Given the description of an element on the screen output the (x, y) to click on. 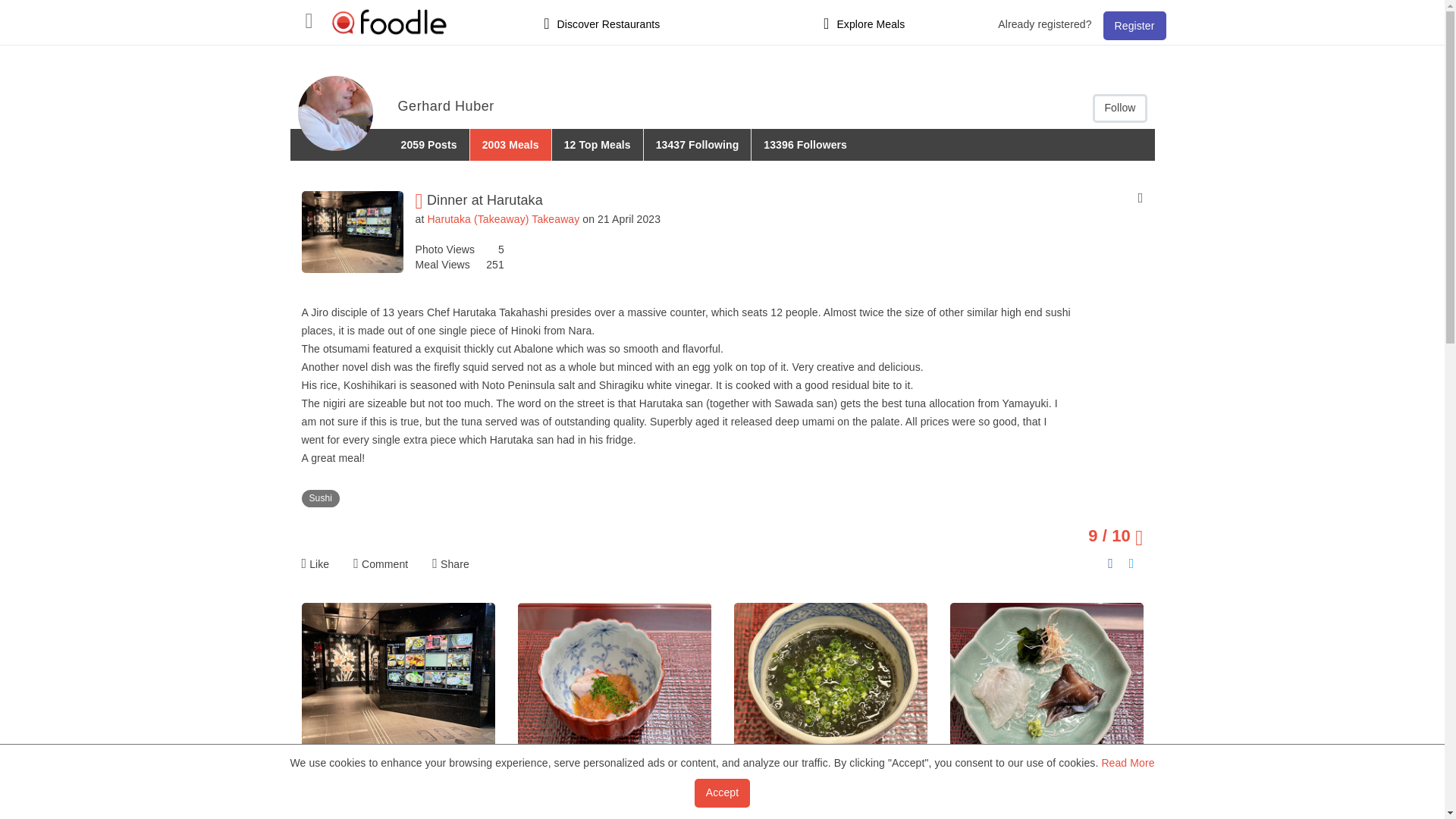
Comment (380, 563)
Dinner at Harutaka (1045, 680)
Foodle - find the best place to eat (390, 22)
Dinner at Harutaka (830, 814)
2059 Posts (428, 144)
Dinner at Harutaka (398, 814)
12 Top Meals (597, 144)
Discover Restaurants (601, 24)
Gerhard Huber (334, 113)
Register (1134, 25)
